Given the description of an element on the screen output the (x, y) to click on. 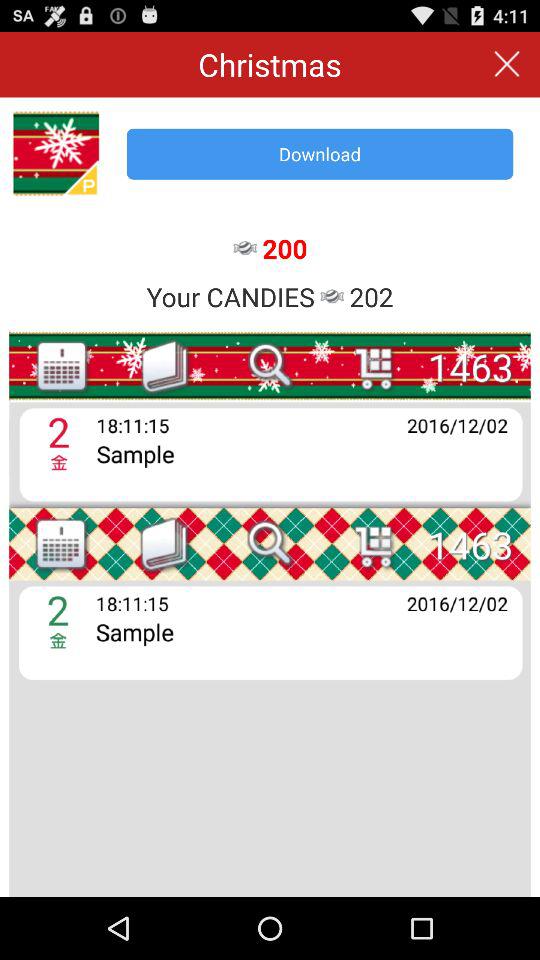
flip until the download item (319, 153)
